Given the description of an element on the screen output the (x, y) to click on. 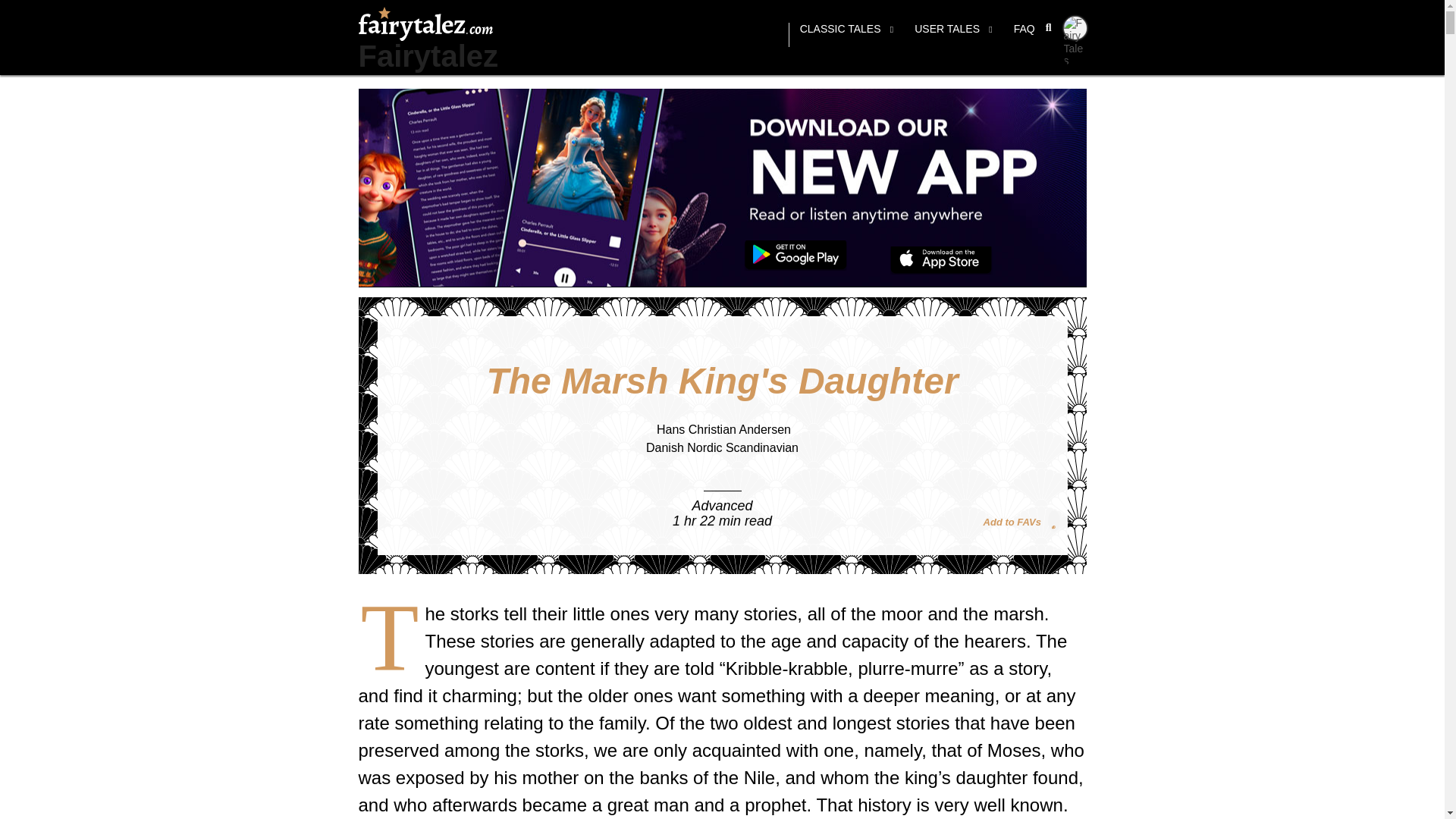
Add to FAVs (1021, 520)
Scandinavian (761, 447)
Fairytalez audio book android app (795, 255)
FAQ (1024, 34)
Fairytalez (427, 55)
Hans Christian Andersen (723, 429)
CLASSIC TALES (846, 34)
Fairytalez audio book ios app (940, 260)
View all items in Hans Christian Andersen (723, 429)
Danish (665, 447)
Nordic (704, 447)
USER TALES (953, 34)
